Given the description of an element on the screen output the (x, y) to click on. 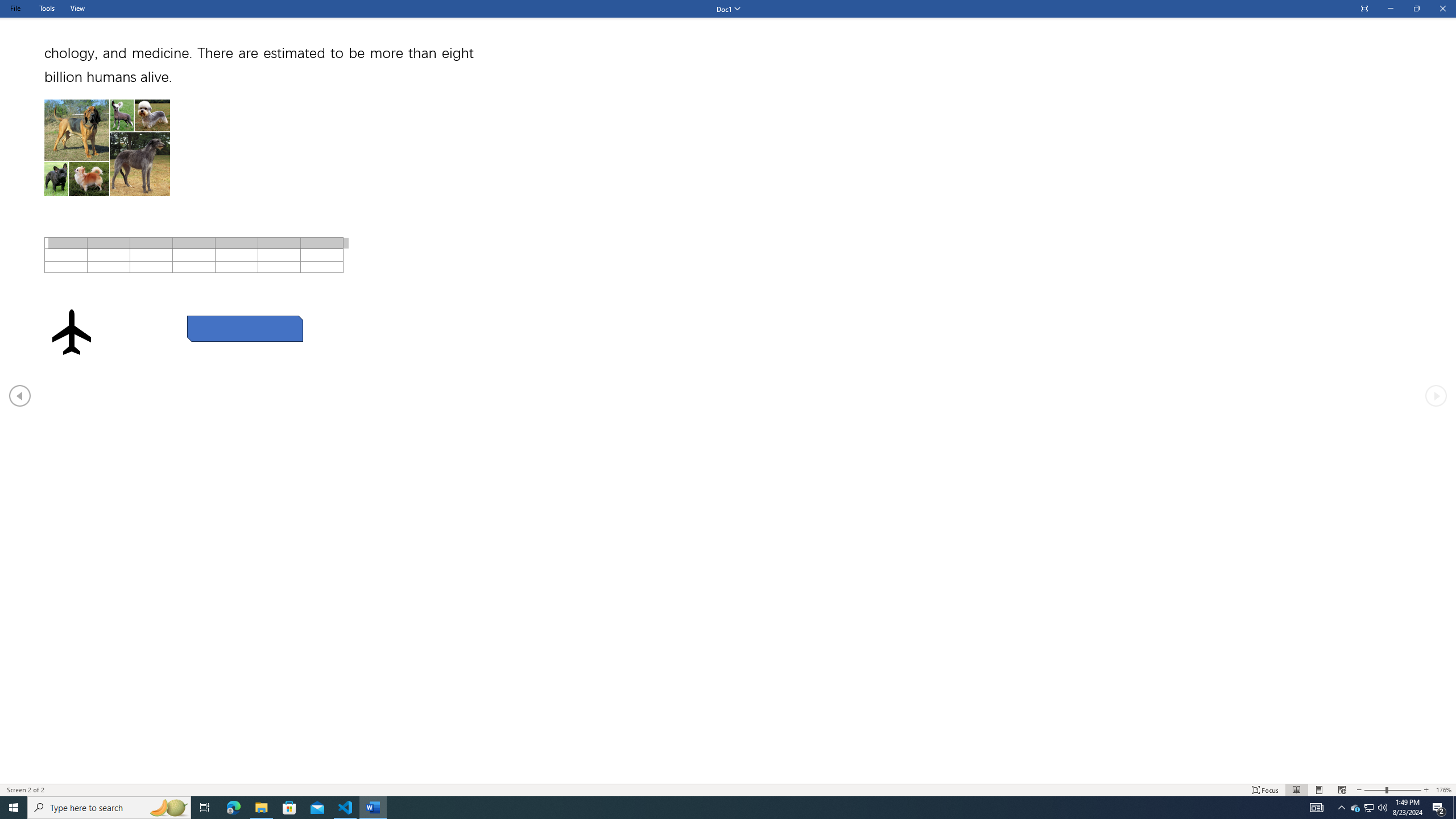
Increase Text Size (1426, 790)
Page Number Screen 2 of 2  (29, 790)
Decrease Text Size (1359, 790)
